Given the description of an element on the screen output the (x, y) to click on. 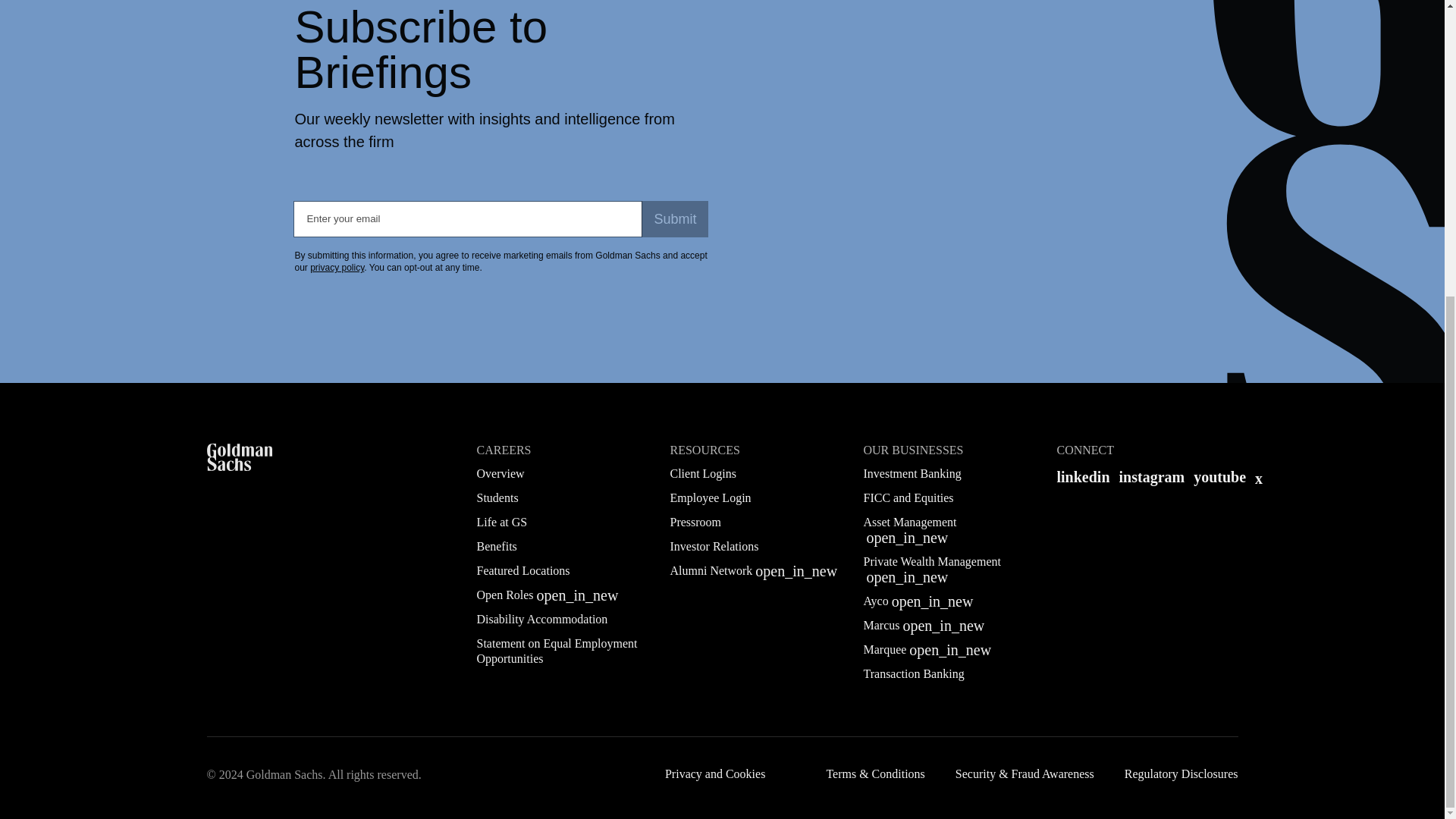
Instagram (1152, 476)
Submit (674, 218)
linkedin (1083, 476)
Featured Locations (522, 570)
Pressroom (694, 522)
youtube (1219, 476)
FICC and Equities (908, 498)
privacy policy (337, 267)
Students (497, 498)
Disability Accommodation (541, 619)
